Given the description of an element on the screen output the (x, y) to click on. 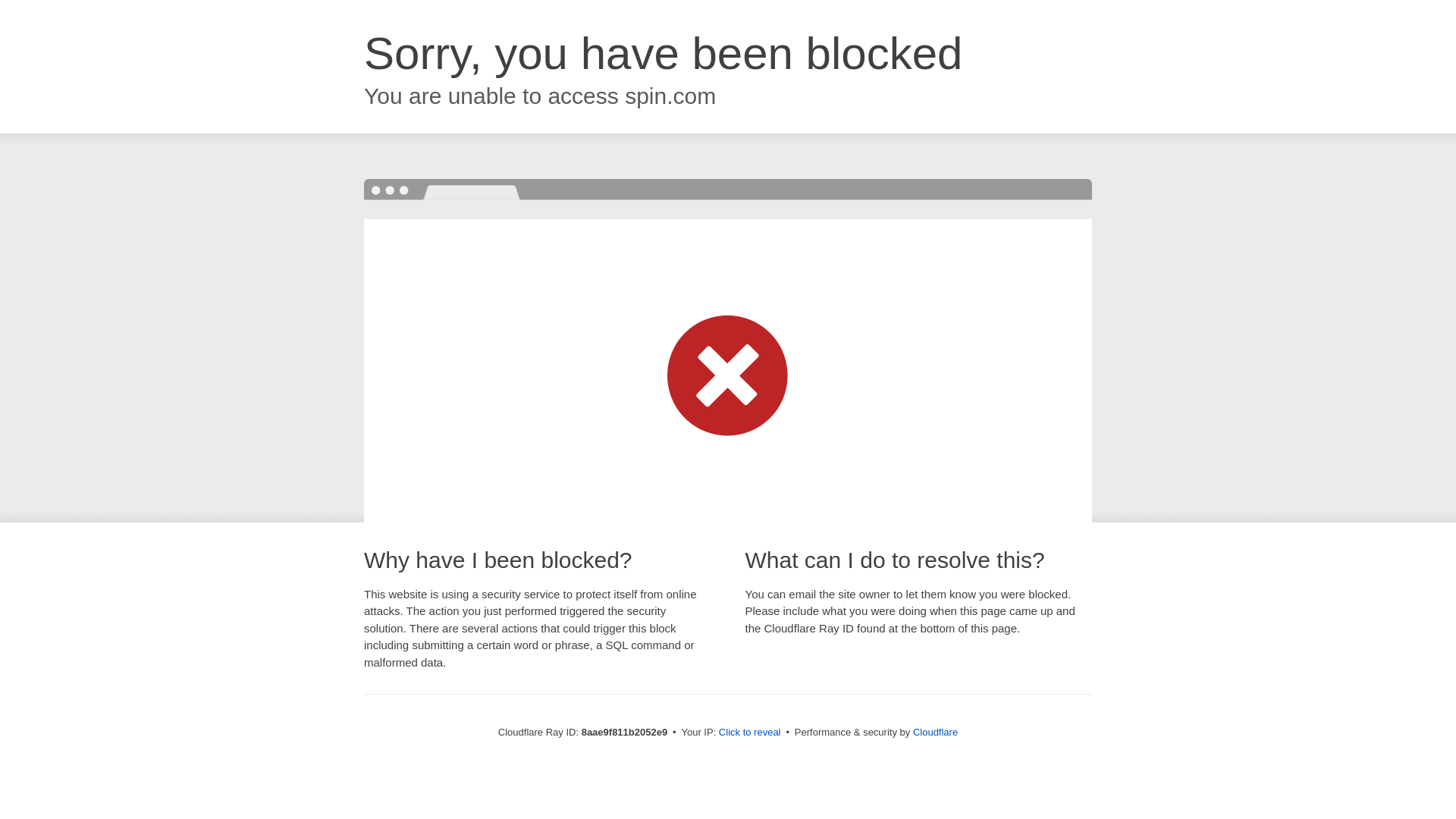
Click to reveal (749, 732)
Cloudflare (935, 731)
